Given the description of an element on the screen output the (x, y) to click on. 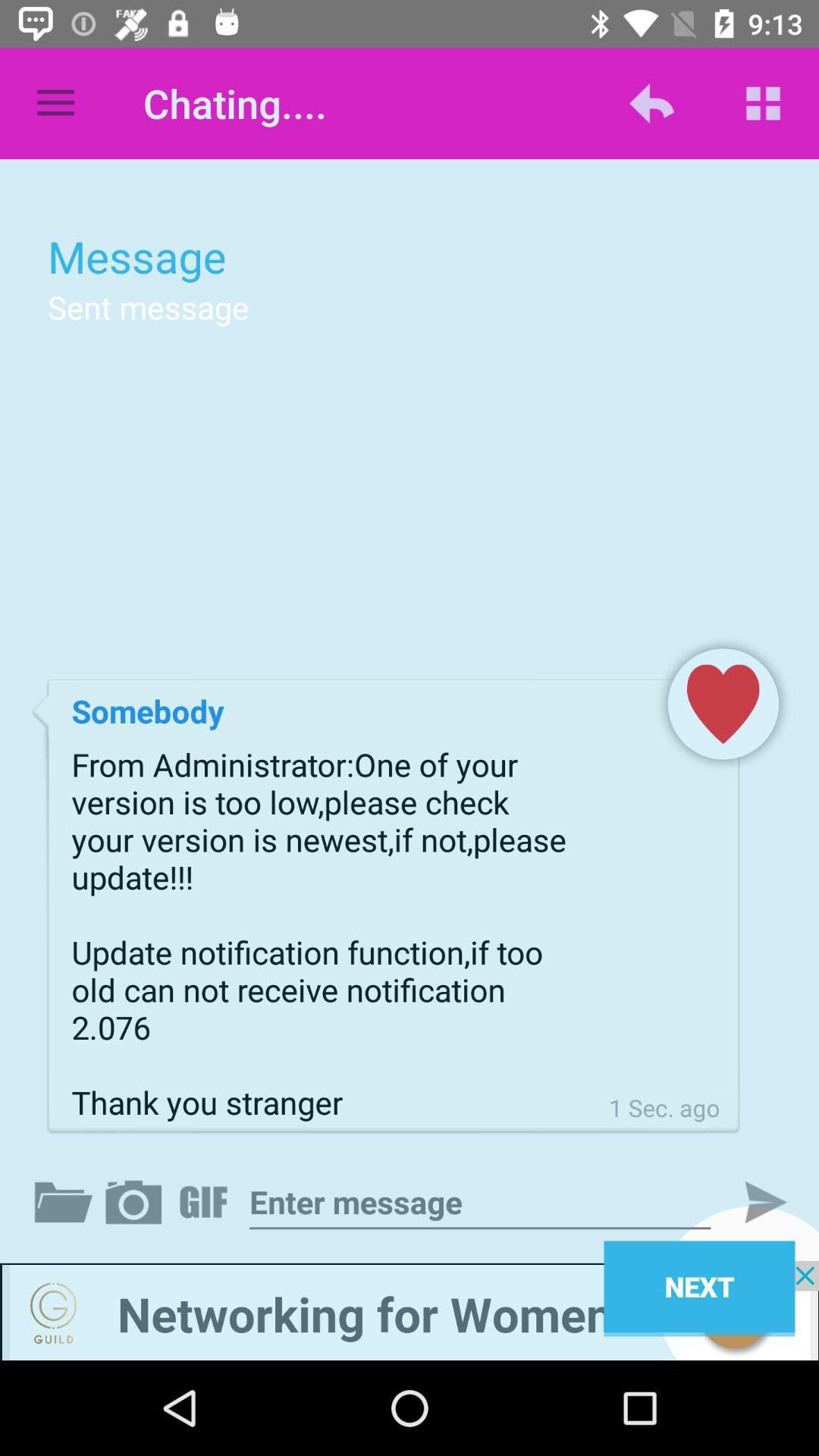
takes screen shot (136, 1202)
